Given the description of an element on the screen output the (x, y) to click on. 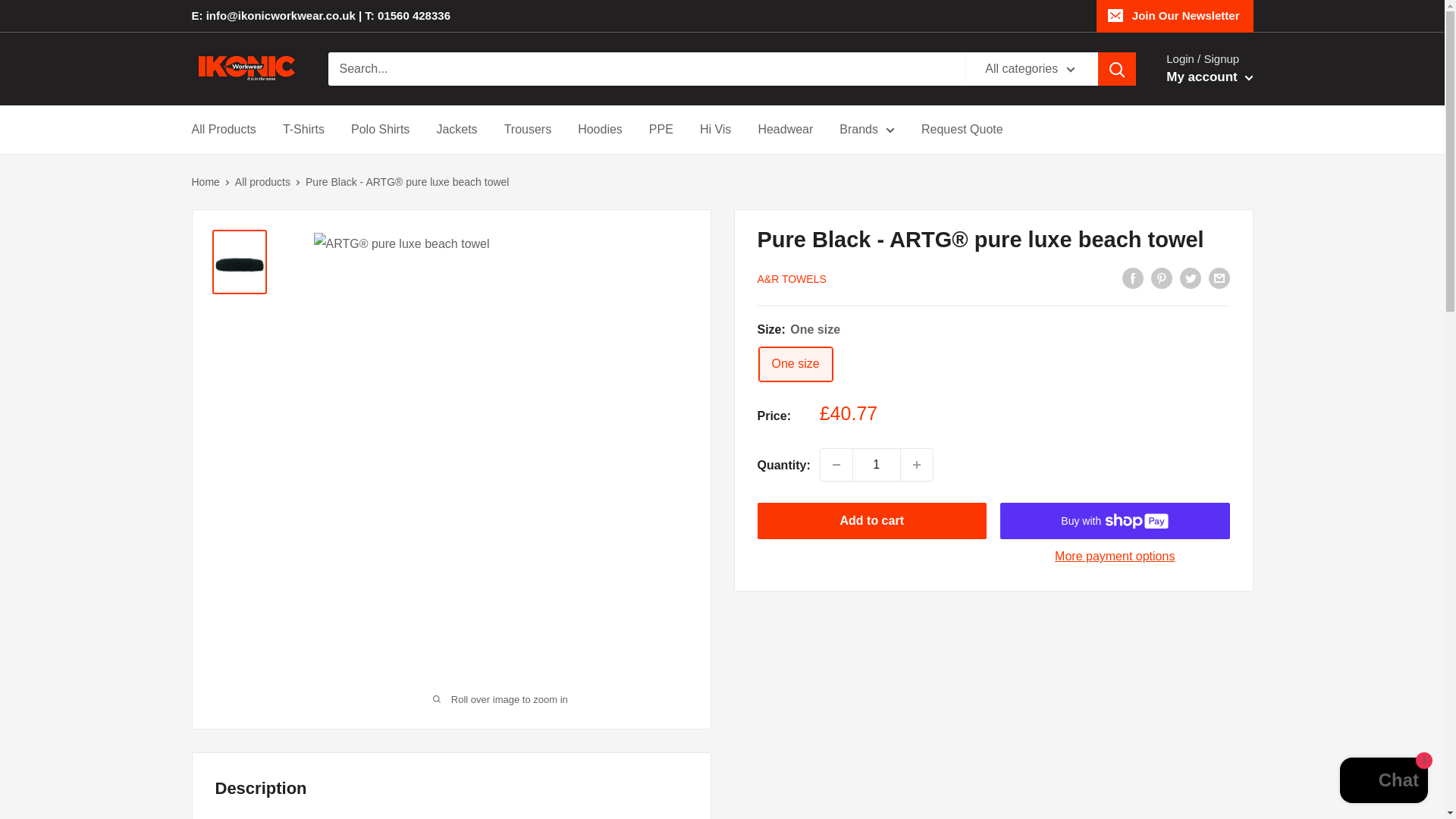
One size (794, 364)
My account (1209, 77)
Join Our Newsletter (1174, 15)
Shopify online store chat (1383, 781)
Decrease quantity by 1 (836, 464)
Ikonic Workwear (243, 68)
1 (876, 464)
Increase quantity by 1 (917, 464)
